Given the description of an element on the screen output the (x, y) to click on. 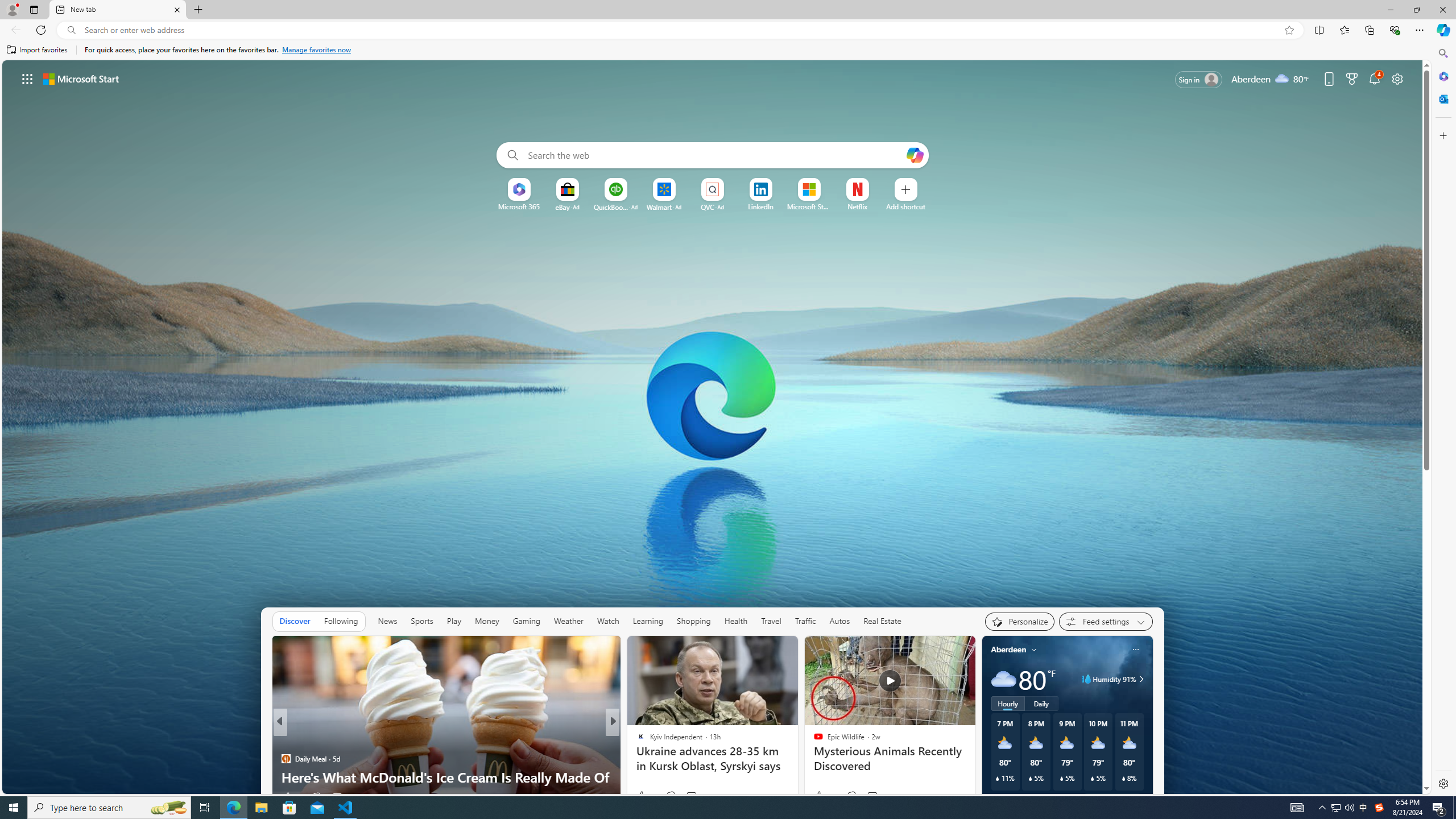
Outlook (1442, 98)
Import favorites (36, 49)
Customize (1442, 135)
